Given the description of an element on the screen output the (x, y) to click on. 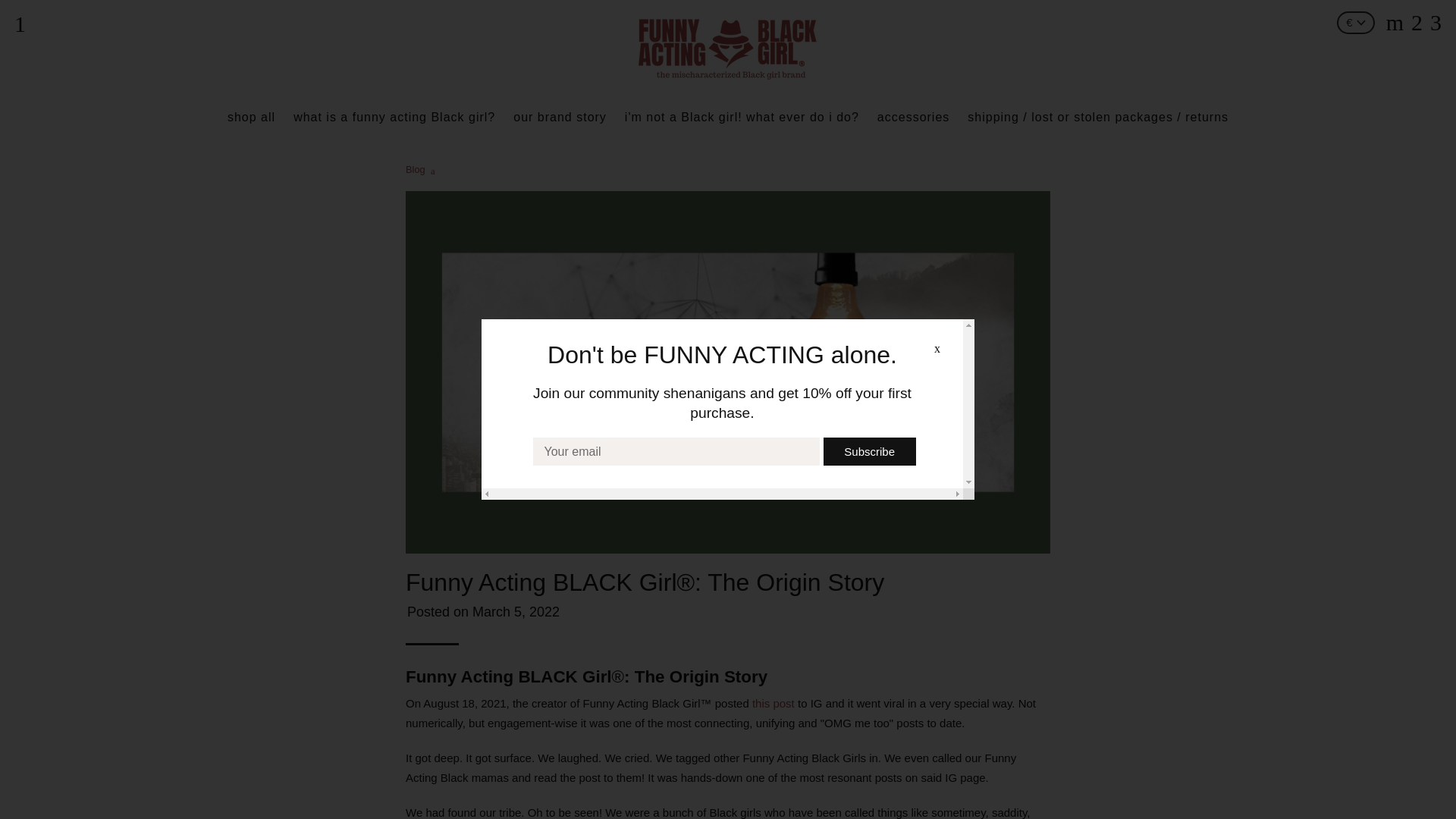
i'm not a Black girl! what ever do i do? (741, 117)
Subscribe (869, 451)
shop all (250, 117)
our brand story (559, 117)
accessories (912, 117)
what is a funny acting Black girl? (393, 117)
